Given the description of an element on the screen output the (x, y) to click on. 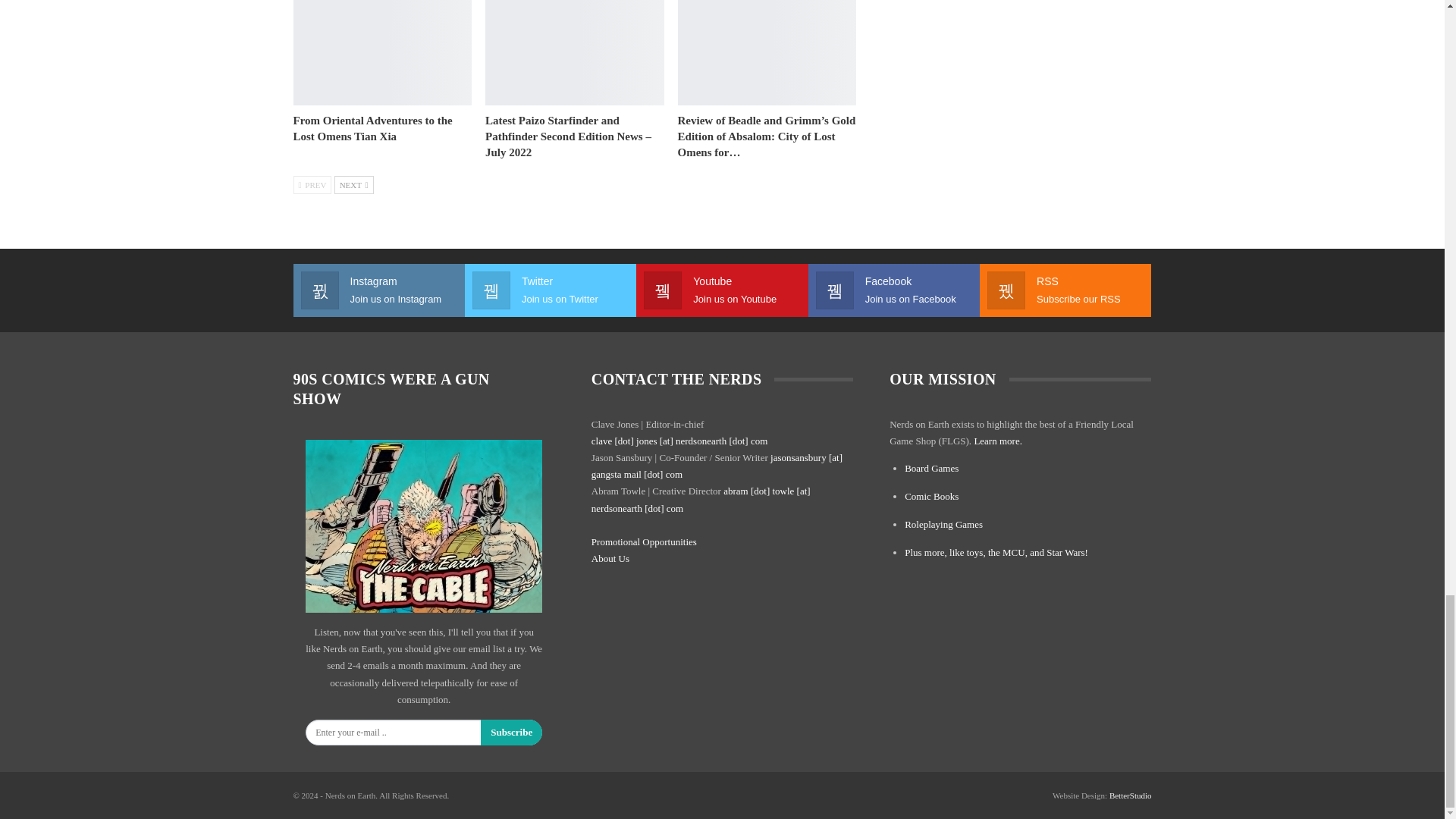
Next (354, 185)
Previous (311, 185)
From Oriental Adventures to the Lost Omens Tian Xia (371, 128)
From Oriental Adventures to the Lost Omens Tian Xia (381, 53)
